Given the description of an element on the screen output the (x, y) to click on. 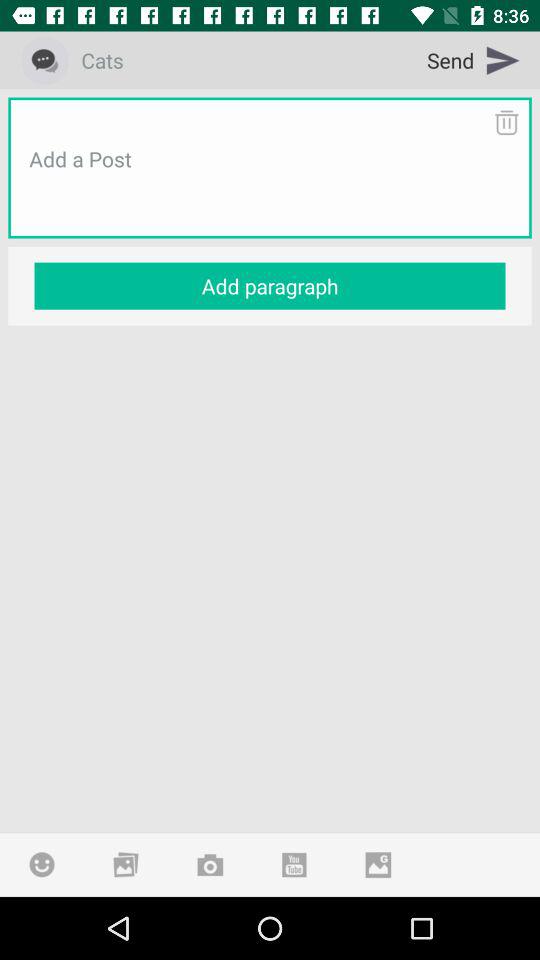
open camera (210, 864)
